Given the description of an element on the screen output the (x, y) to click on. 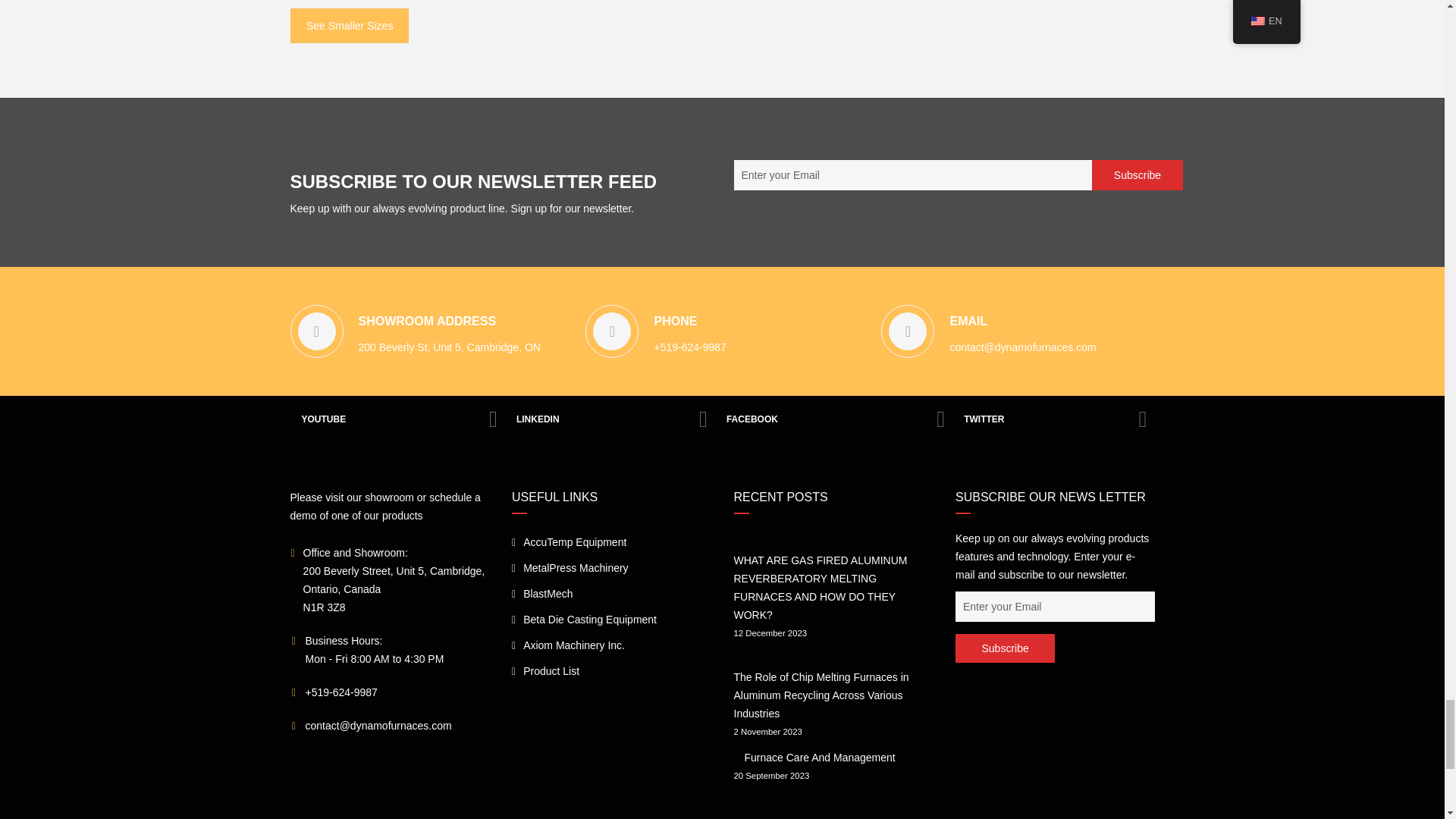
See Smaller Sizes (348, 25)
Subscribe (1004, 647)
Subscribe (1137, 174)
